Given the description of an element on the screen output the (x, y) to click on. 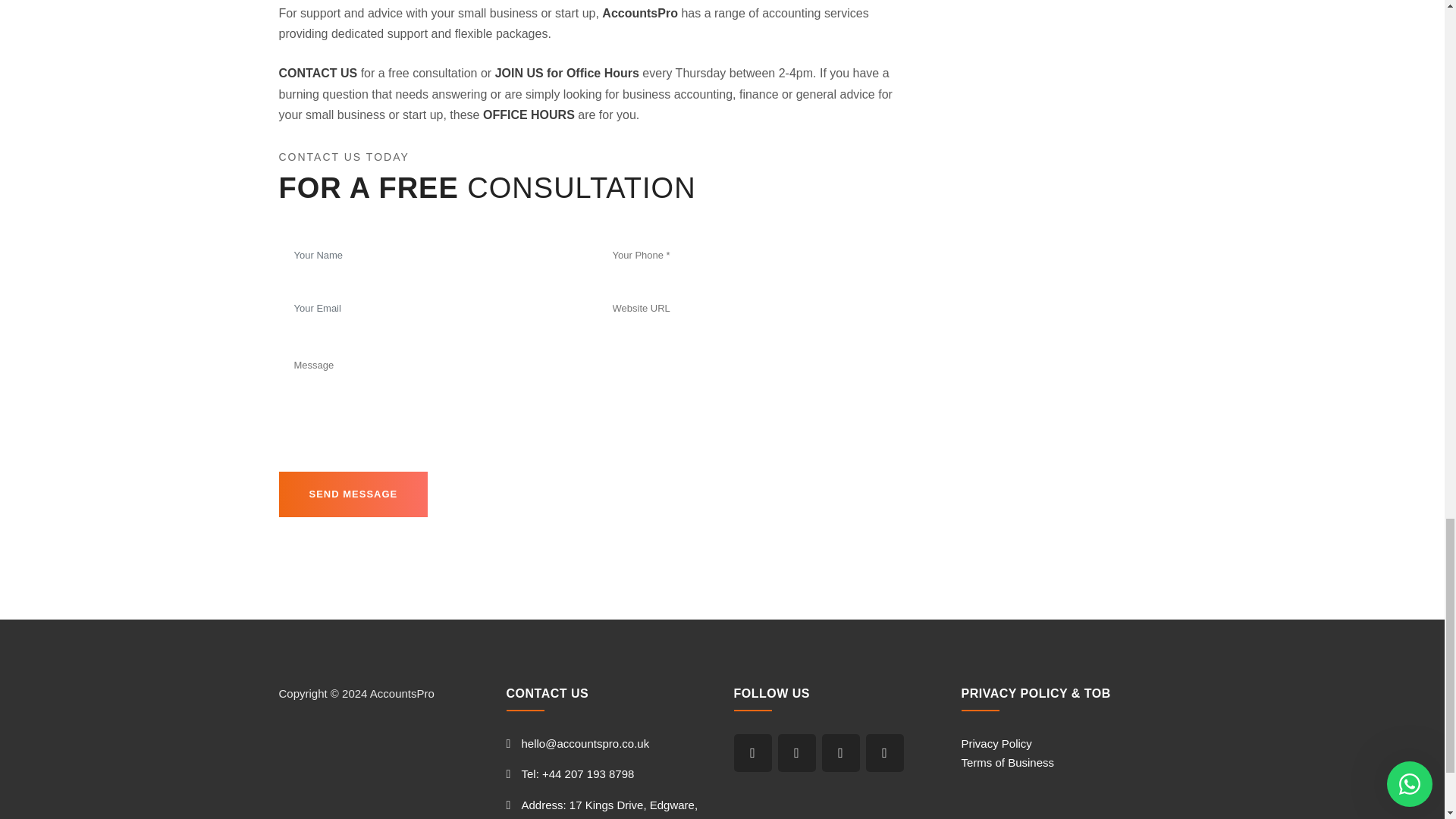
AccountsPro (640, 12)
OFFICE HOURS (529, 114)
CONTACT US (318, 72)
Send Message (353, 493)
Send Message (353, 493)
JOIN US for Office Hours (567, 72)
